Given the description of an element on the screen output the (x, y) to click on. 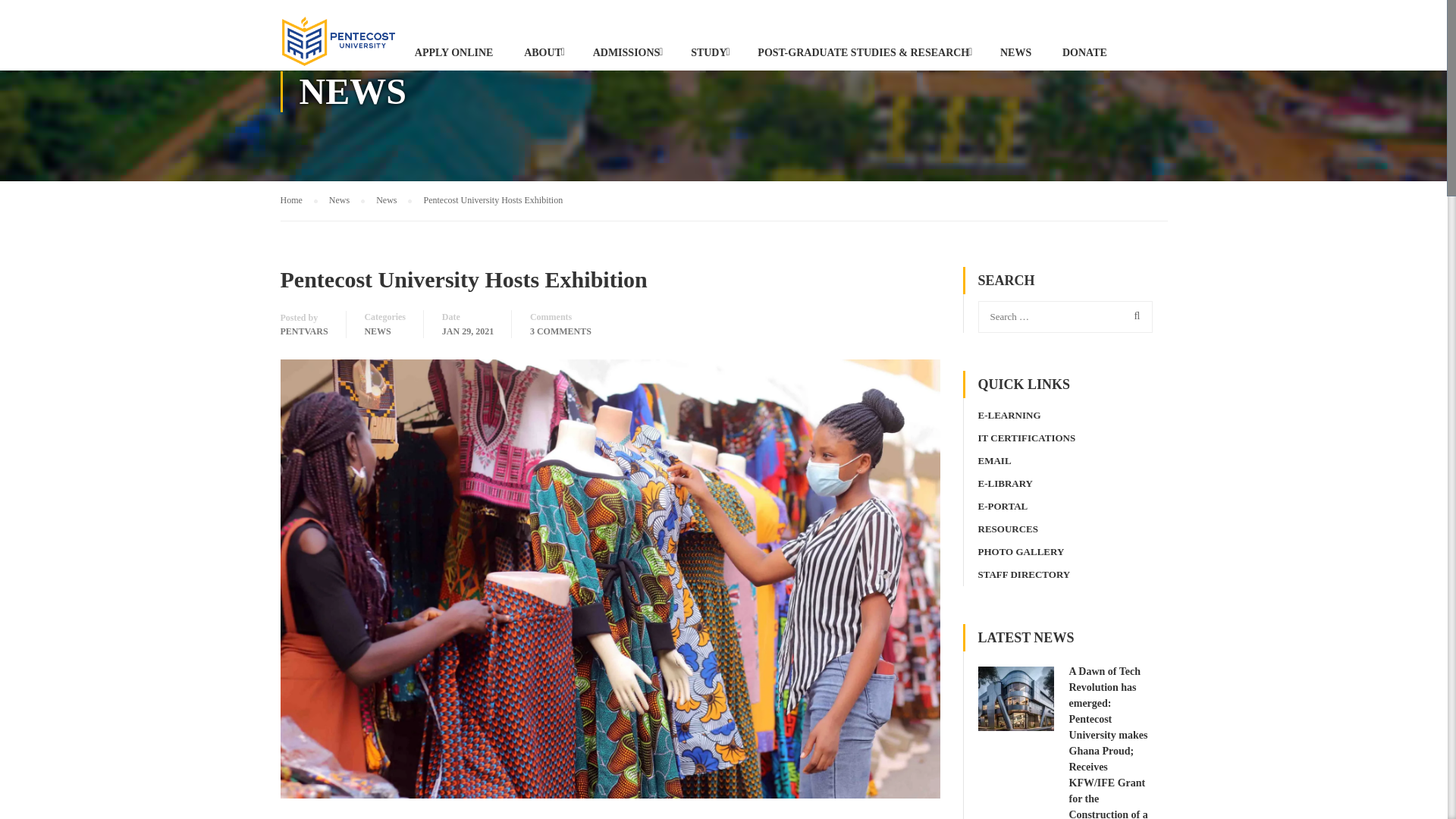
News (393, 199)
Search (1134, 316)
News (347, 199)
APPLY ONLINE (454, 53)
Home (299, 199)
ABOUT (542, 53)
Search (1134, 316)
Pentecost University Hosts Exhibition (492, 199)
